Given the description of an element on the screen output the (x, y) to click on. 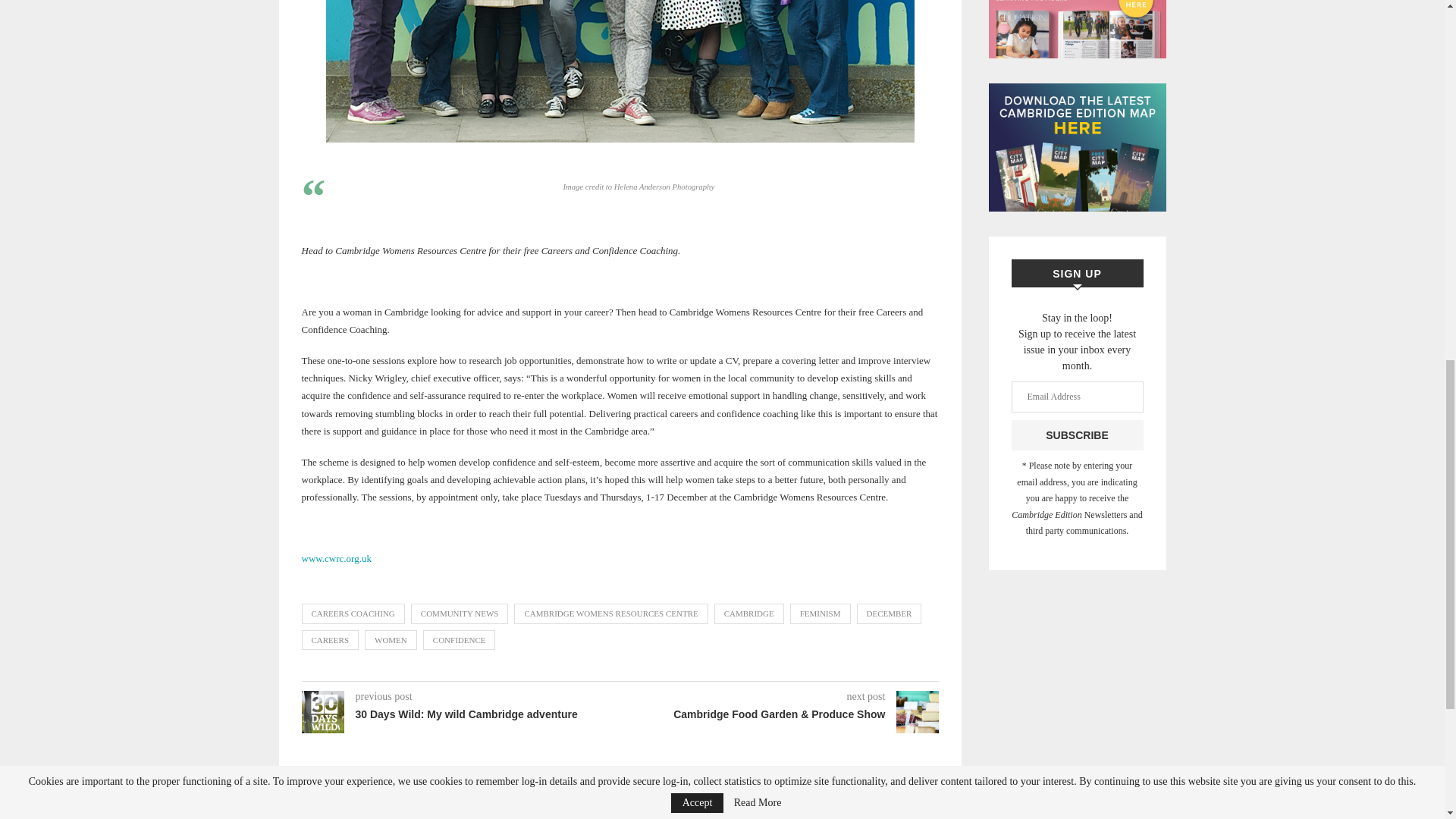
Subscribe (1076, 435)
Credit to Helena Anderson (620, 71)
